Given the description of an element on the screen output the (x, y) to click on. 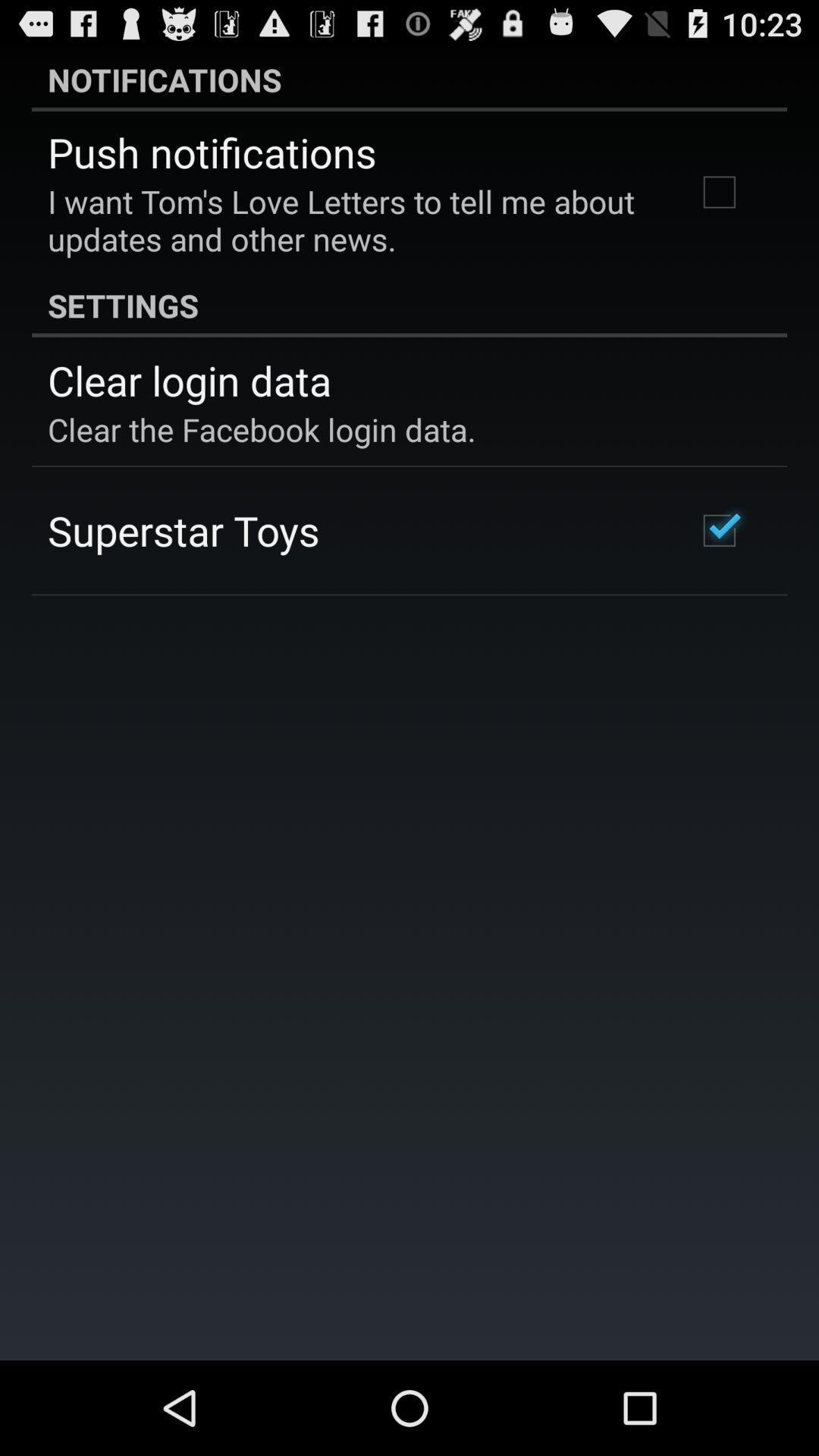
tap the icon below the push notifications item (351, 219)
